Given the description of an element on the screen output the (x, y) to click on. 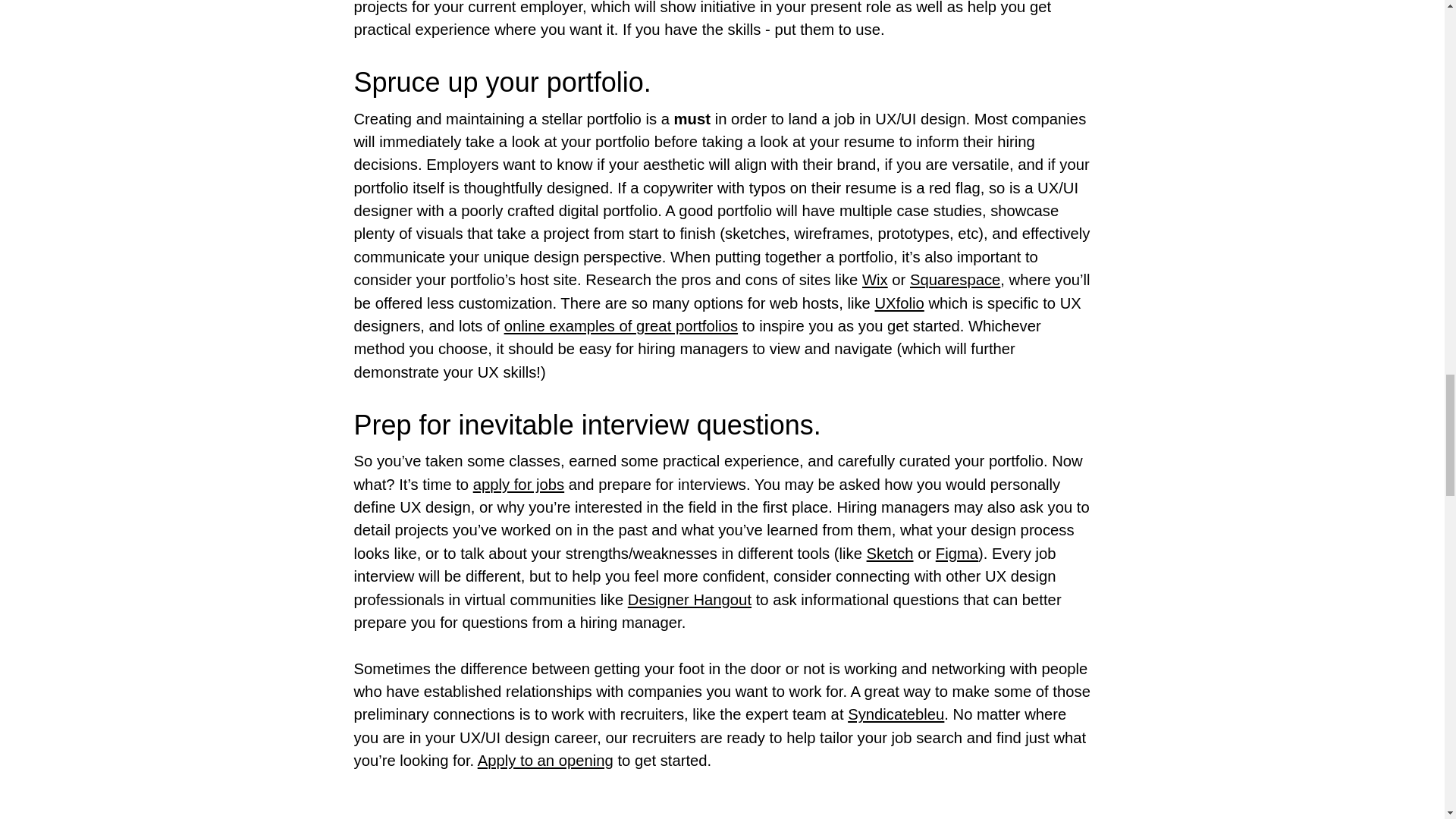
Syndicatebleu (895, 713)
Figma (957, 553)
Sketch (890, 553)
Apply to an opening (544, 760)
Designer Hangout (689, 599)
online examples of great portfolios (620, 325)
Wix (874, 279)
Squarespace (955, 279)
UXfolio (899, 303)
apply for jobs (518, 484)
